Given the description of an element on the screen output the (x, y) to click on. 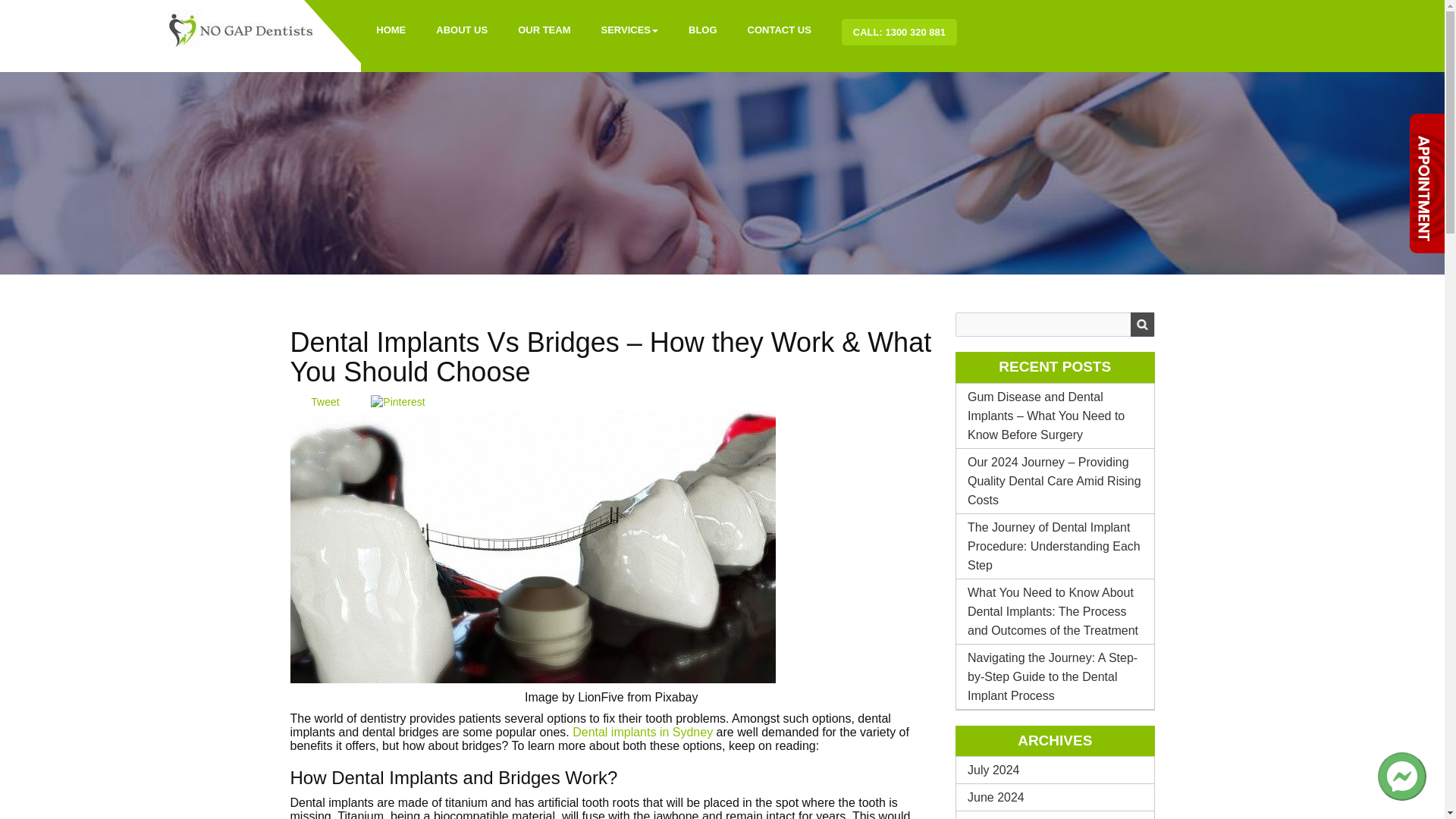
CONTACT US (779, 30)
July 2024 (1055, 769)
Search (1141, 324)
Tweet (325, 401)
Affordable Dentists in Sydney (241, 29)
June 2024 (1055, 796)
May 2024 (1055, 815)
Dental implants in Sydney (642, 731)
BLOG (702, 30)
